Given the description of an element on the screen output the (x, y) to click on. 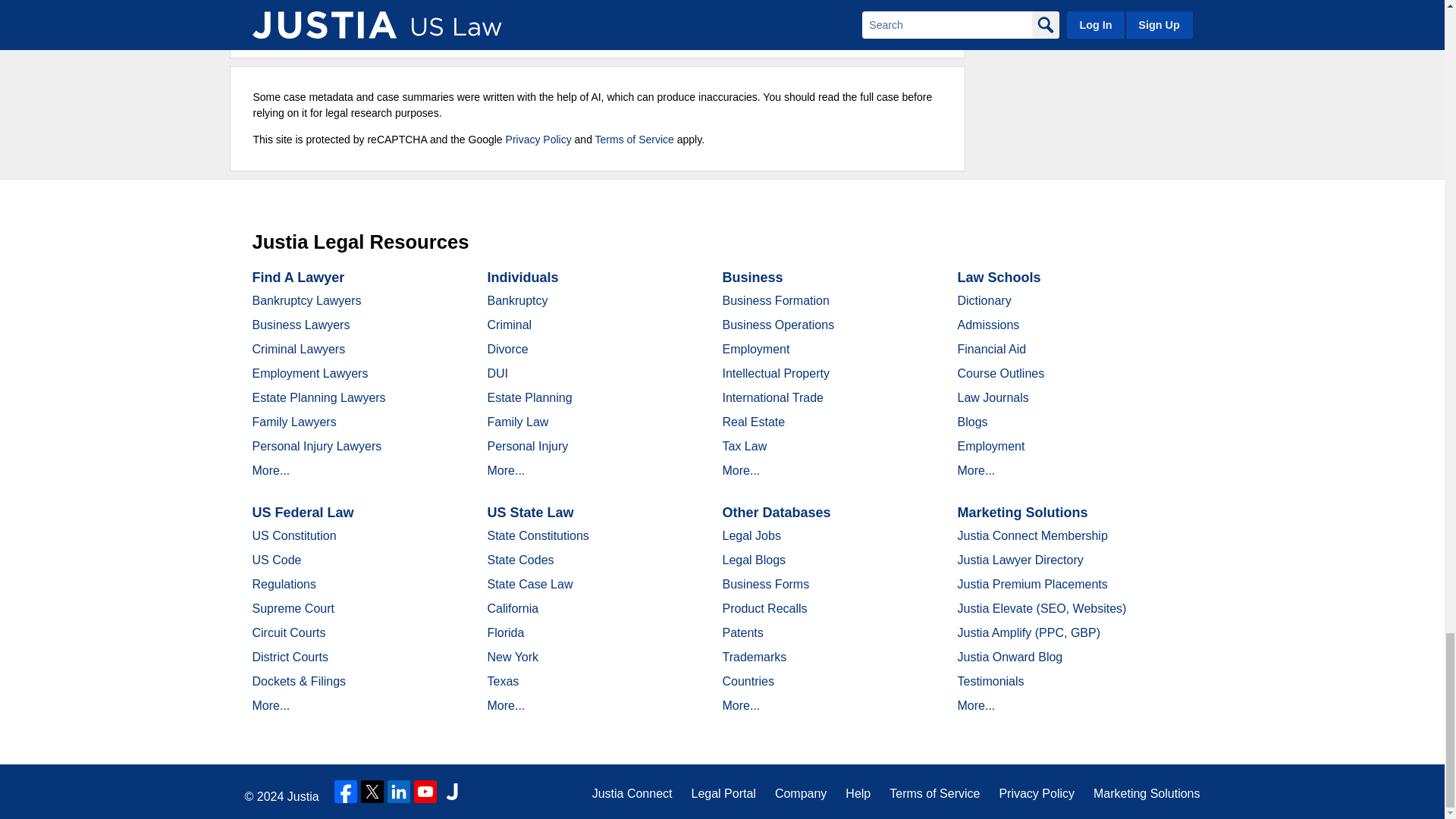
Twitter (372, 791)
Facebook (345, 791)
Terms of Service (634, 139)
Privacy Policy (538, 139)
LinkedIn (398, 791)
